Given the description of an element on the screen output the (x, y) to click on. 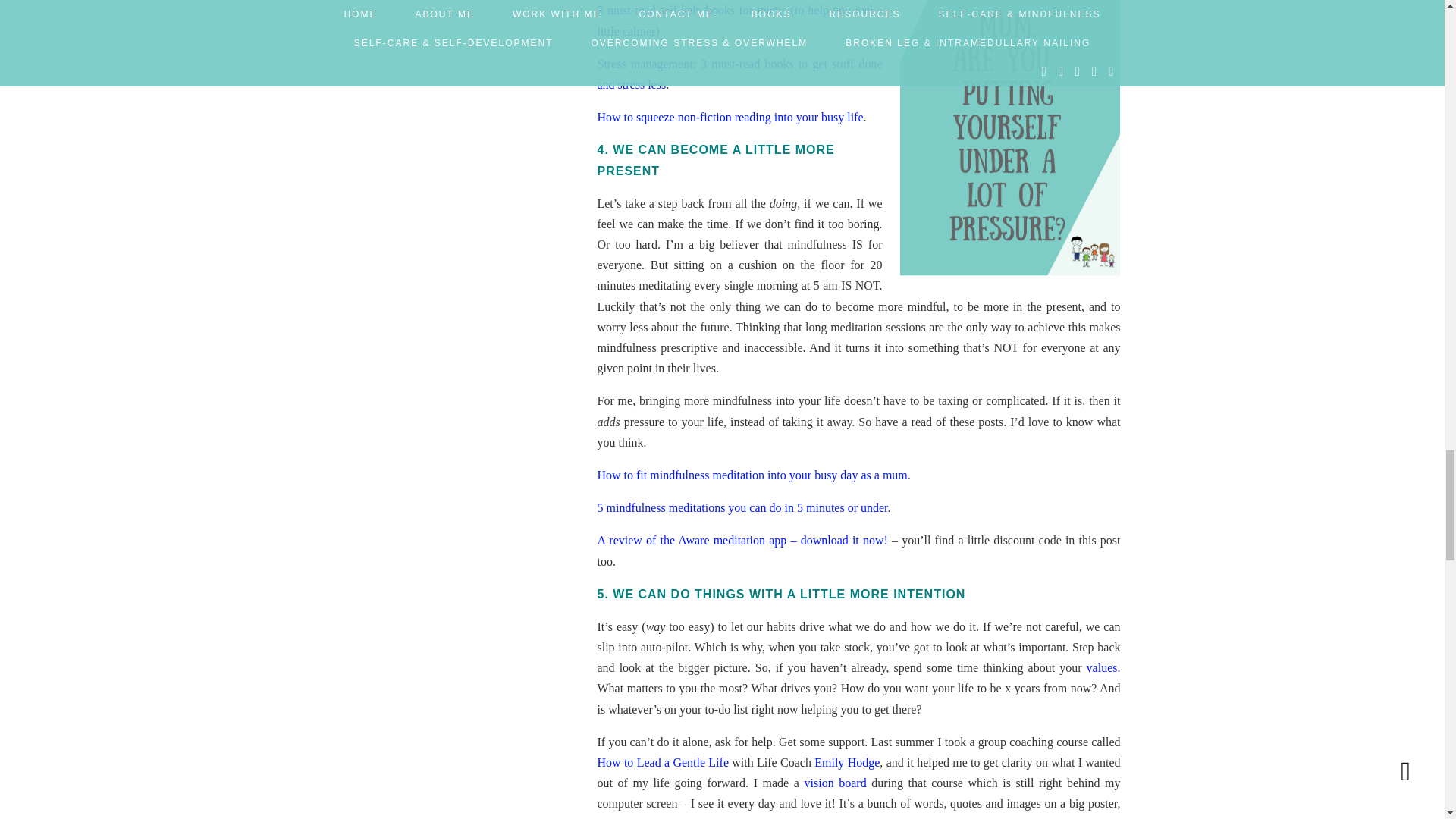
5 mindfulness meditations you can do in 5 minutes or under (741, 507)
How to squeeze non-fiction reading into your busy life (729, 116)
